Given the description of an element on the screen output the (x, y) to click on. 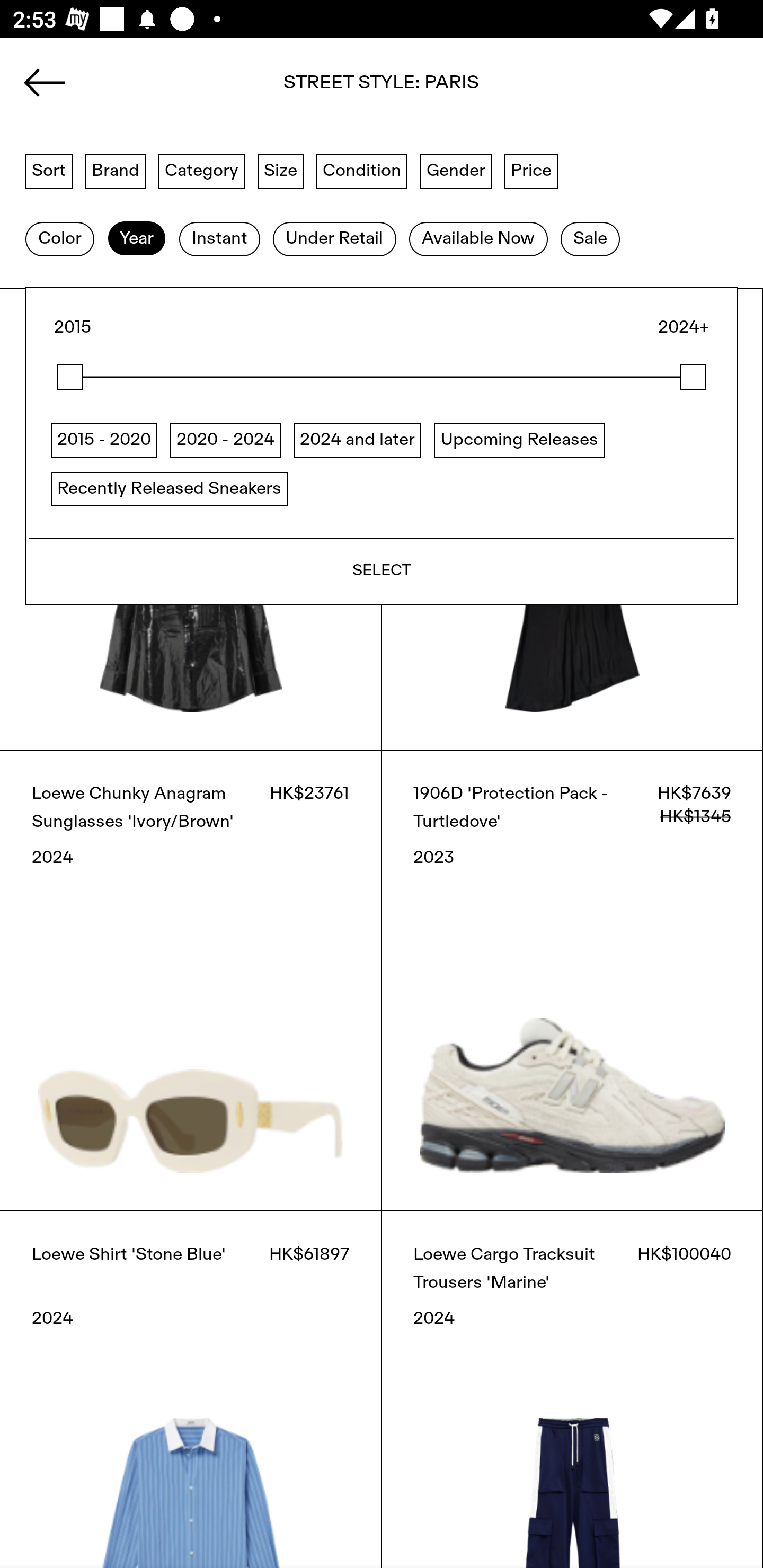
shirt (381, 88)
Sort (48, 170)
Brand (115, 170)
Category (201, 170)
Size (280, 170)
Condition (361, 170)
Gender (455, 170)
Price (530, 170)
Color (59, 239)
Year (136, 239)
Instant (219, 239)
Under Retail (334, 239)
Available Now (477, 239)
Sale (589, 239)
2015.0 Range start,2015 2024.0 Range end,2024 (381, 376)
2015 - 2020 (104, 439)
2020 - 2024 (225, 439)
2024 and later (357, 439)
Upcoming Releases (519, 439)
Recently Released Sneakers (169, 488)
SELECT (381, 570)
Loewe Shirt 'Stone Blue' HK$61897 2024 (190, 1389)
